Given the description of an element on the screen output the (x, y) to click on. 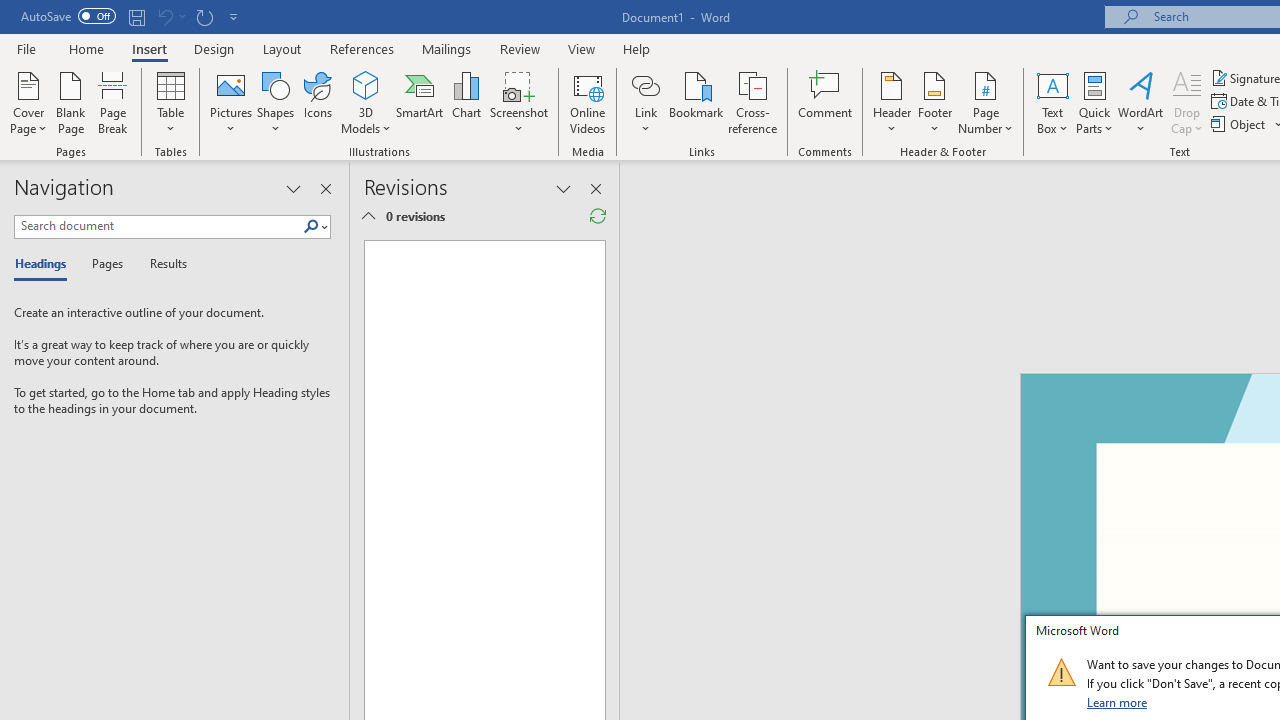
Layout (282, 48)
More Options (645, 121)
Pictures (230, 102)
Help (637, 48)
Link (645, 84)
References (362, 48)
3D Models (366, 84)
Search (315, 227)
View (582, 48)
Can't Undo (164, 15)
Chart... (466, 102)
Pages (105, 264)
Icons (317, 102)
Class: NetUIImage (1061, 671)
Search (311, 227)
